Given the description of an element on the screen output the (x, y) to click on. 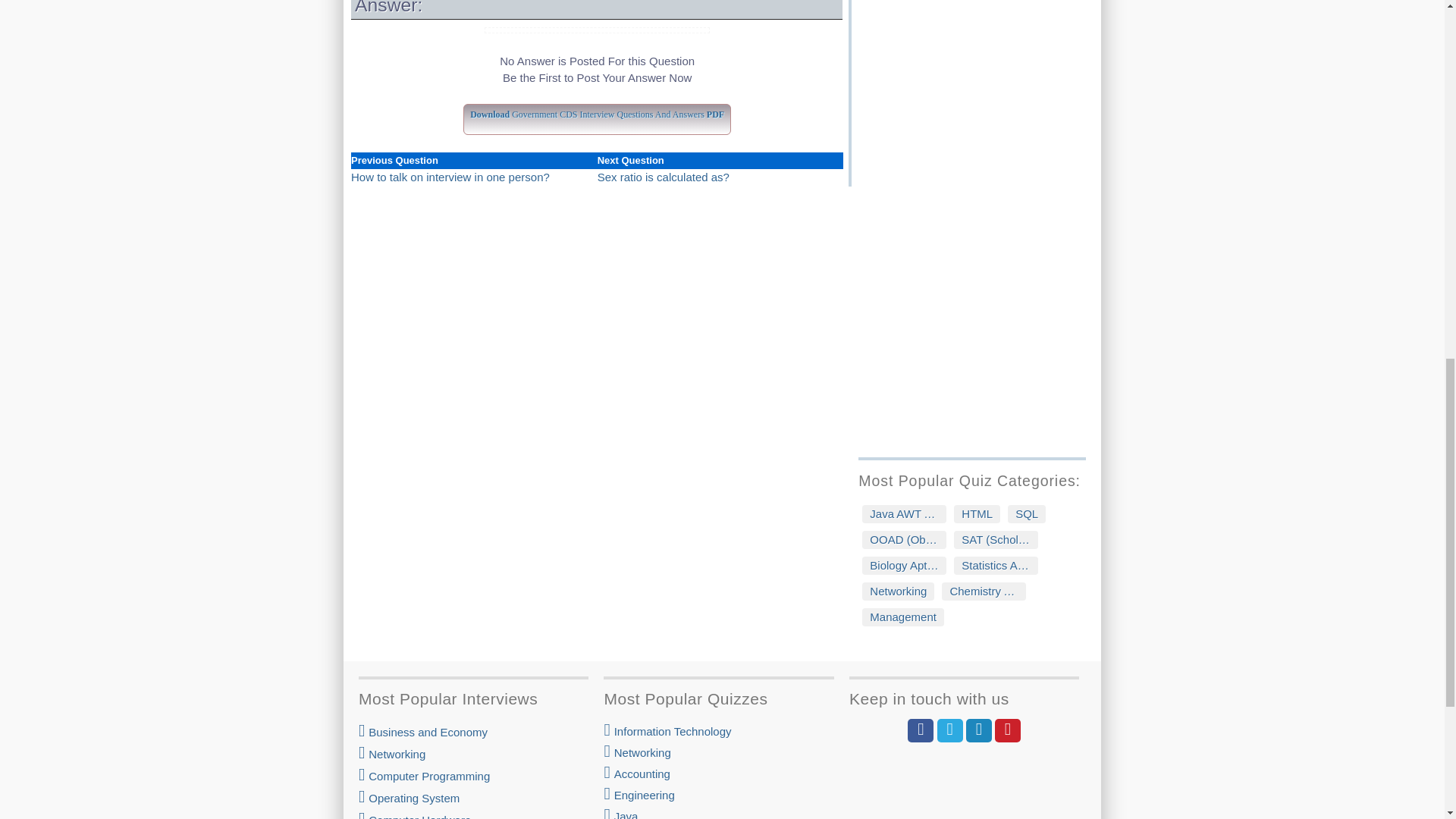
How to talk on interview in one person? (450, 176)
Government SSC Political Science (978, 27)
Sex ratio is calculated as? (662, 176)
Download Government CDS Interview Questions And Answers PDF (596, 111)
Government SSC History (978, 7)
